Given the description of an element on the screen output the (x, y) to click on. 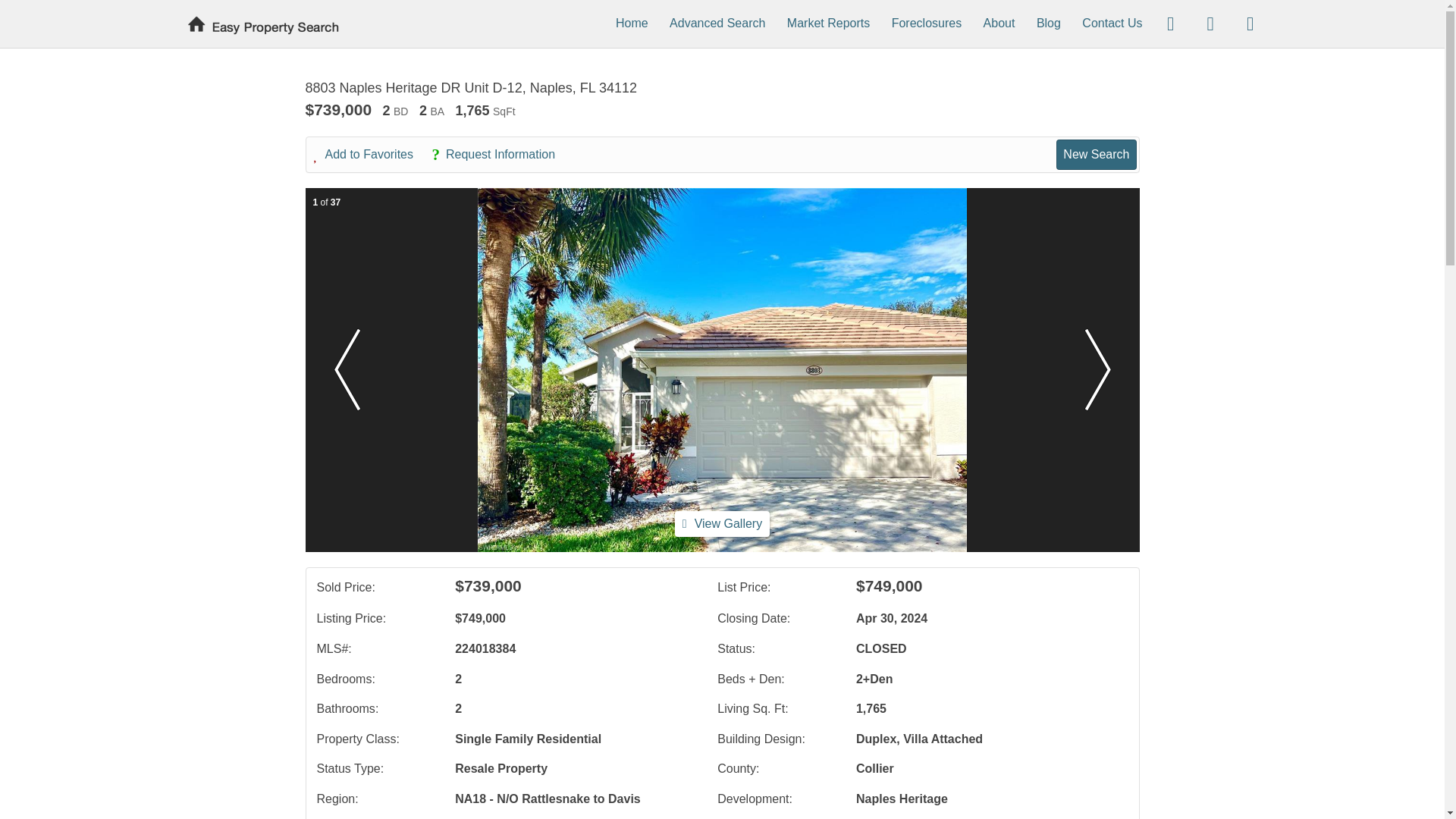
Contact Us (1111, 22)
Home (631, 22)
Add to Favorites (371, 154)
Blog (1048, 22)
Foreclosures (925, 22)
View Gallery (722, 524)
Advanced Search (717, 22)
Market Reports (828, 22)
New Search (1096, 154)
Request Information (500, 154)
View Gallery (722, 522)
About (999, 22)
